Given the description of an element on the screen output the (x, y) to click on. 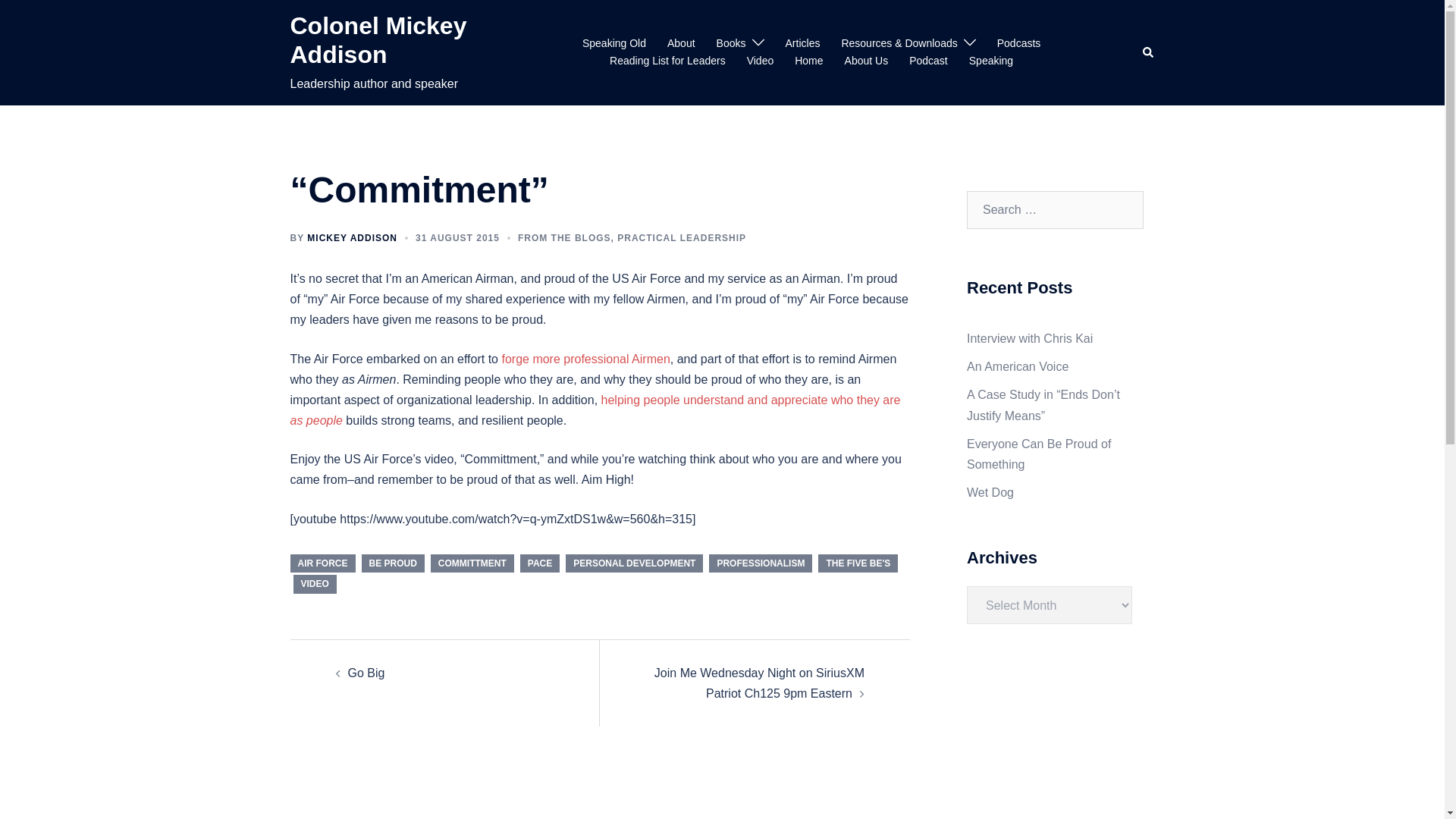
Speaking Old (614, 44)
Podcasts (1019, 44)
Books (730, 44)
Colonel Mickey Addison (377, 39)
Home (808, 61)
Reading List for Leaders (667, 61)
Video (760, 61)
Articles (803, 44)
Speaking (991, 61)
Search (1147, 51)
